Given the description of an element on the screen output the (x, y) to click on. 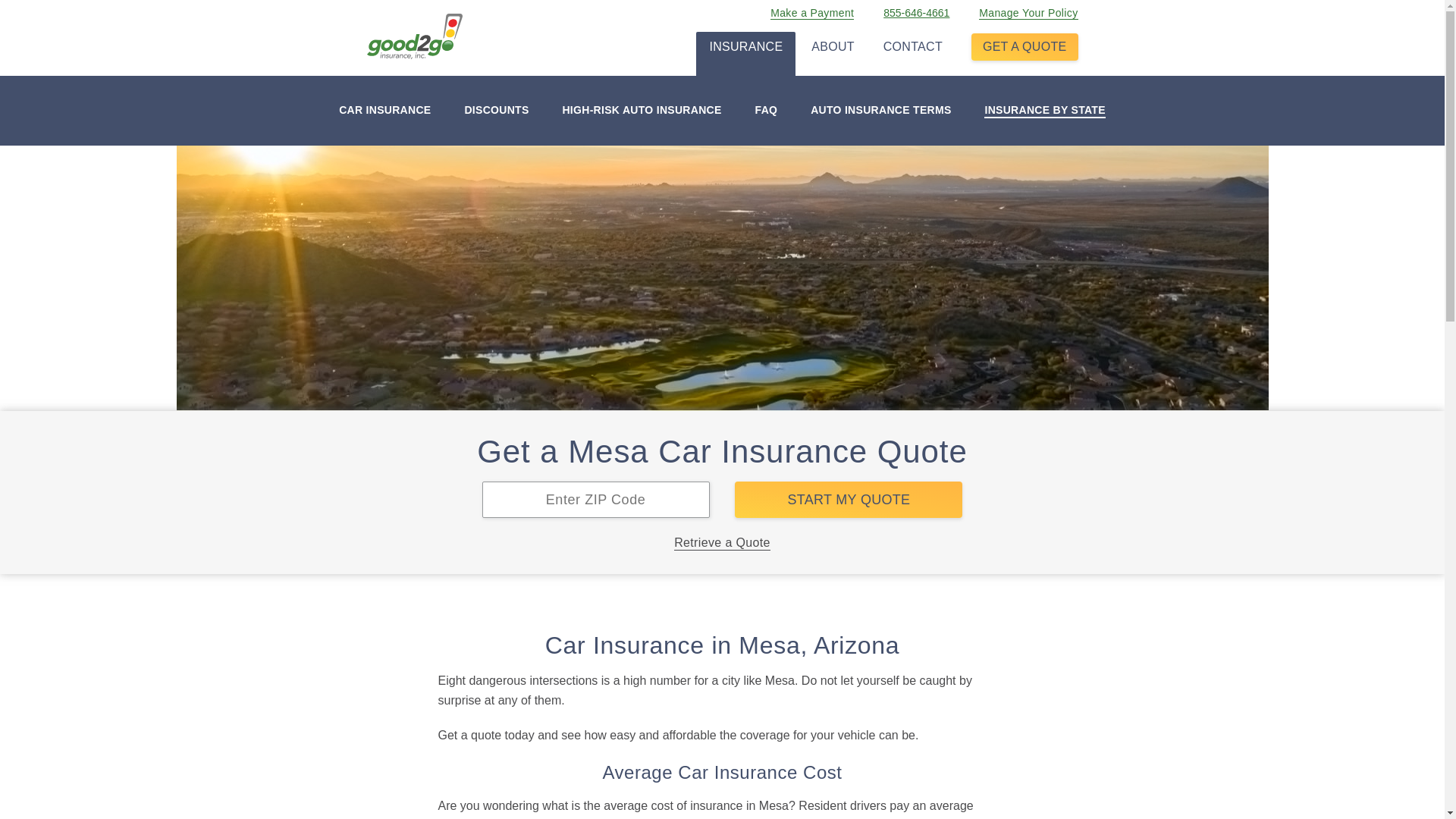
Make a Payment (811, 9)
ABOUT (832, 42)
Manage Your Policy (1027, 9)
HIGH-RISK AUTO INSURANCE (641, 110)
GET A QUOTE (1024, 46)
INSURANCE (746, 42)
DISCOUNTS (496, 110)
855-646-4661 (916, 9)
CONTACT (912, 42)
FAQ (766, 110)
AUTO INSURANCE TERMS (880, 110)
CAR INSURANCE (384, 110)
INSURANCE BY STATE (1044, 110)
